Given the description of an element on the screen output the (x, y) to click on. 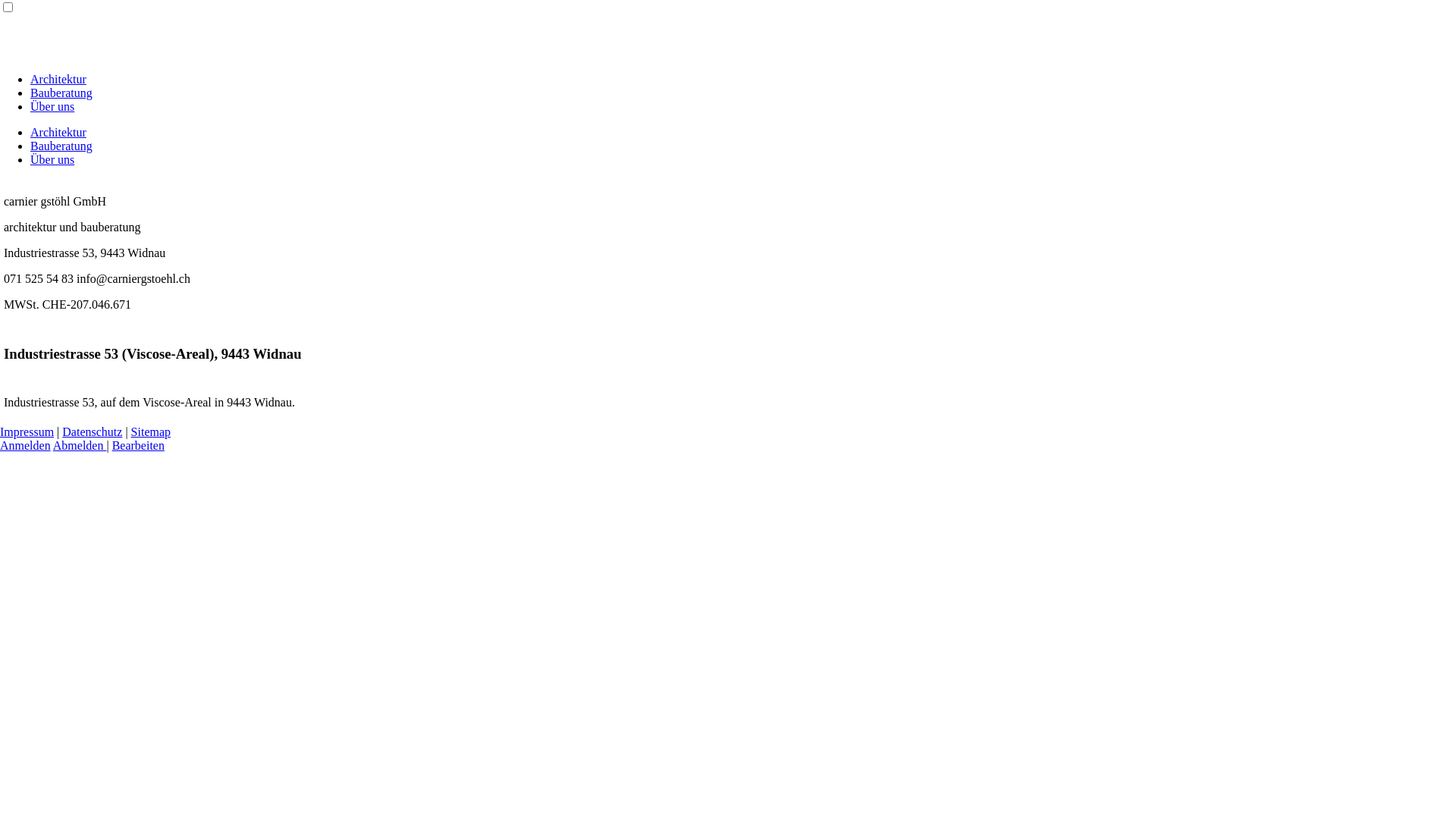
Abmelden Element type: text (79, 445)
Architektur Element type: text (58, 131)
Datenschutz Element type: text (92, 431)
Bearbeiten Element type: text (138, 445)
Sitemap Element type: text (150, 431)
Architektur Element type: text (58, 78)
Bauberatung Element type: text (61, 145)
Anmelden Element type: text (25, 445)
Impressum Element type: text (26, 431)
Bauberatung Element type: text (61, 92)
